Given the description of an element on the screen output the (x, y) to click on. 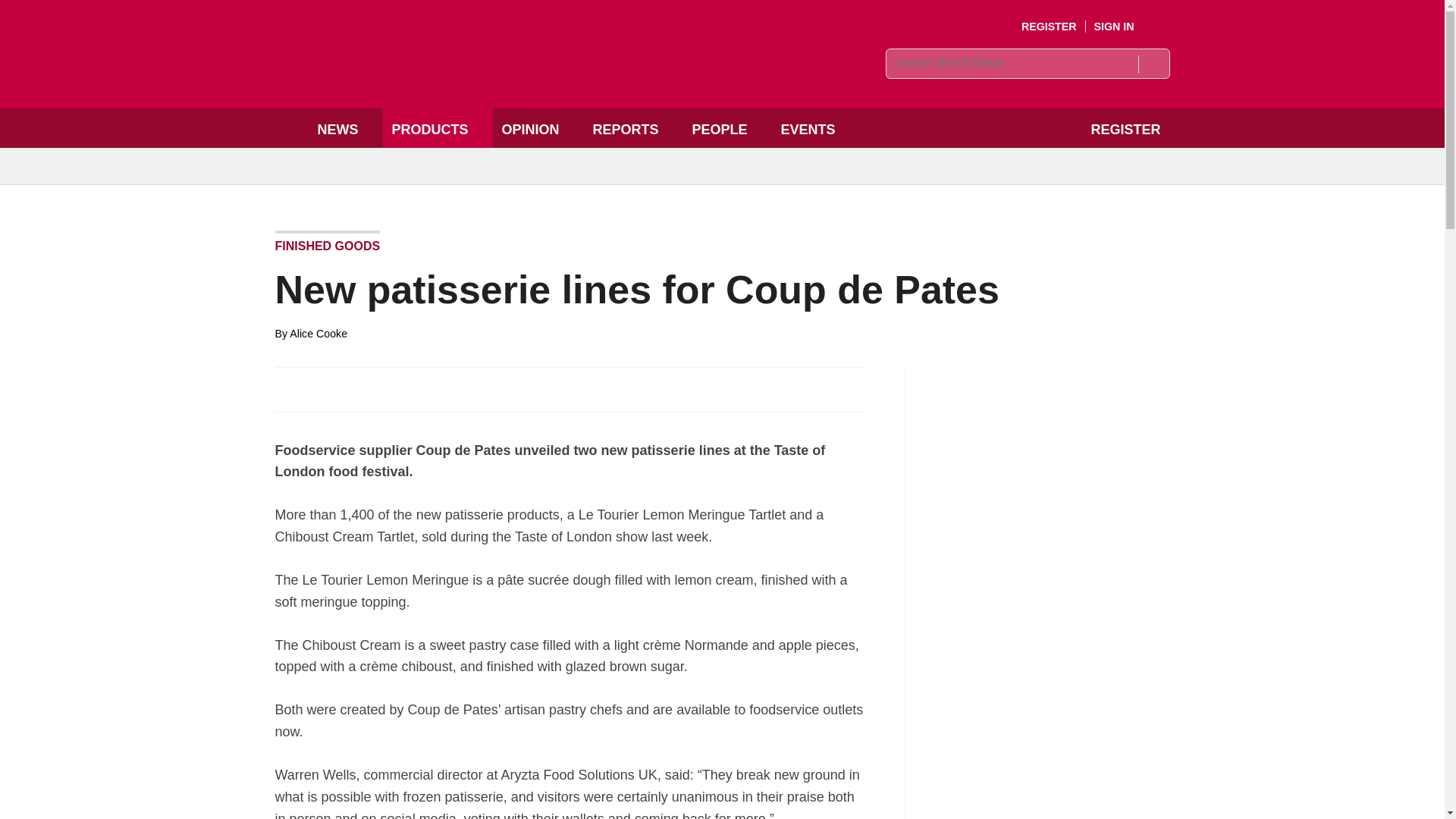
Share this on Twitter (320, 388)
SEARCH (1153, 63)
Site name (484, 76)
Share this on Facebook (288, 388)
REGISTER (1049, 26)
Share this on Linked in (352, 388)
SIGN IN (1125, 26)
No comments (840, 397)
Email this article (386, 388)
